Given the description of an element on the screen output the (x, y) to click on. 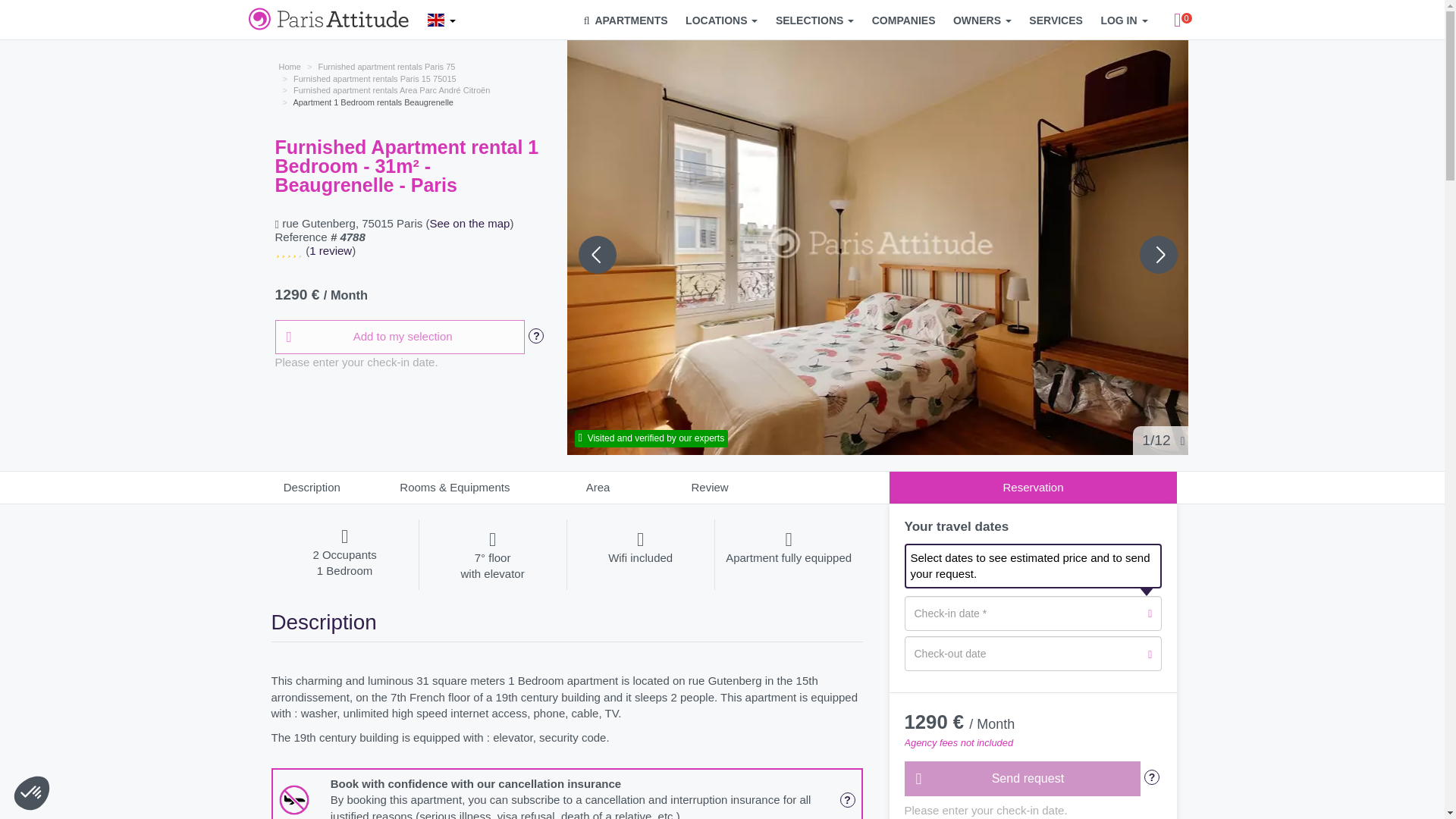
APARTMENTS (625, 20)
0 (1177, 20)
0 (128, 768)
LOCATIONS (721, 20)
